Given the description of an element on the screen output the (x, y) to click on. 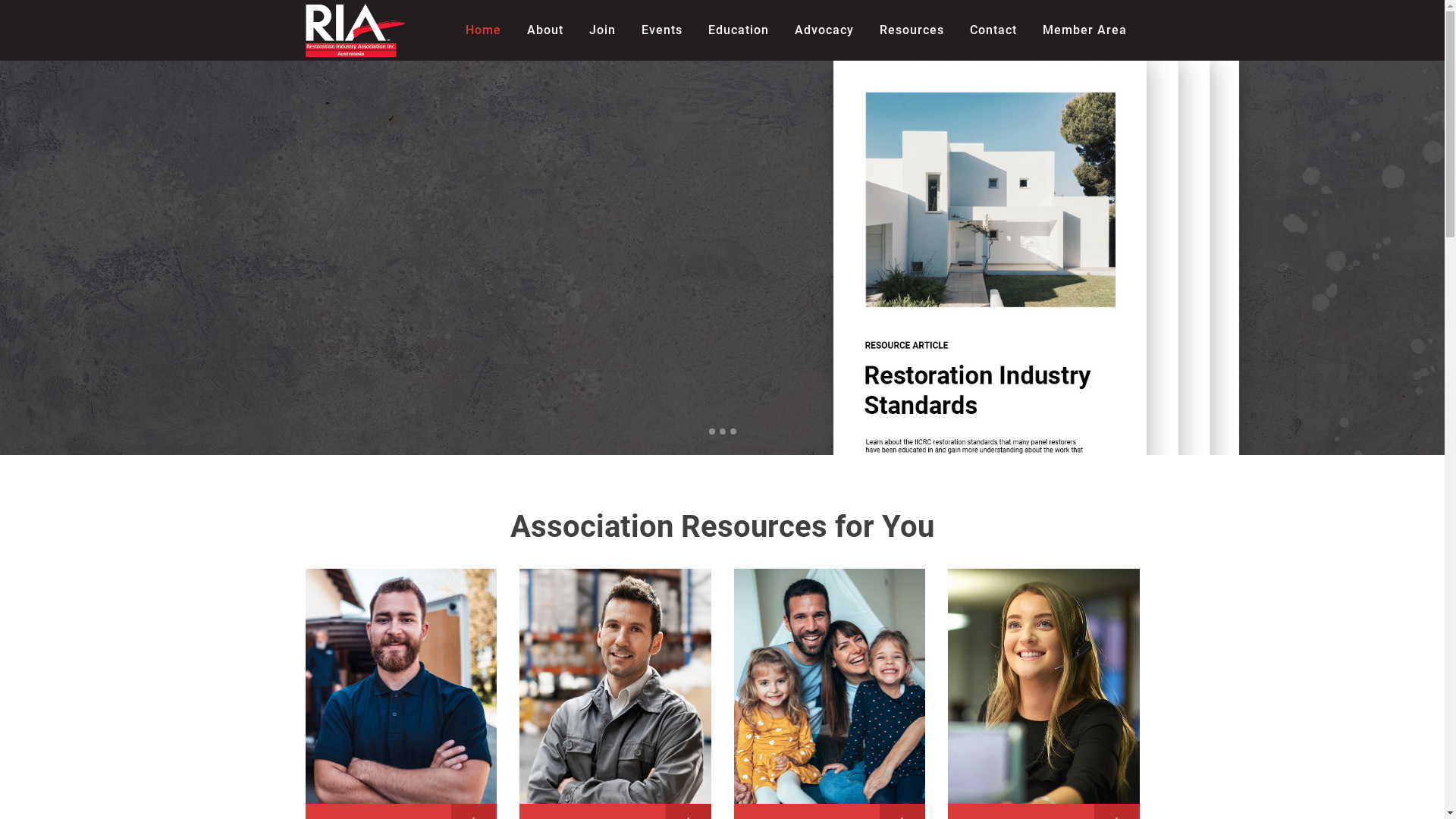
Events Element type: text (660, 30)
insurers Element type: hover (1043, 685)
restorer Element type: hover (400, 685)
Education Element type: text (737, 30)
Resources Element type: text (911, 30)
Join Element type: text (602, 30)
CUSTOMERS Element type: text (829, 578)
Find Out More Element type: text (360, 328)
vendor-1 Element type: hover (615, 685)
RESTORERS Element type: text (400, 578)
customers Element type: hover (829, 685)
Advocacy Element type: text (823, 30)
VENDORS Element type: text (615, 578)
INSURERS Element type: text (1043, 578)
Home Element type: text (482, 30)
Contact Element type: text (993, 30)
Member Area Element type: text (1084, 30)
About Element type: text (545, 30)
